Given the description of an element on the screen output the (x, y) to click on. 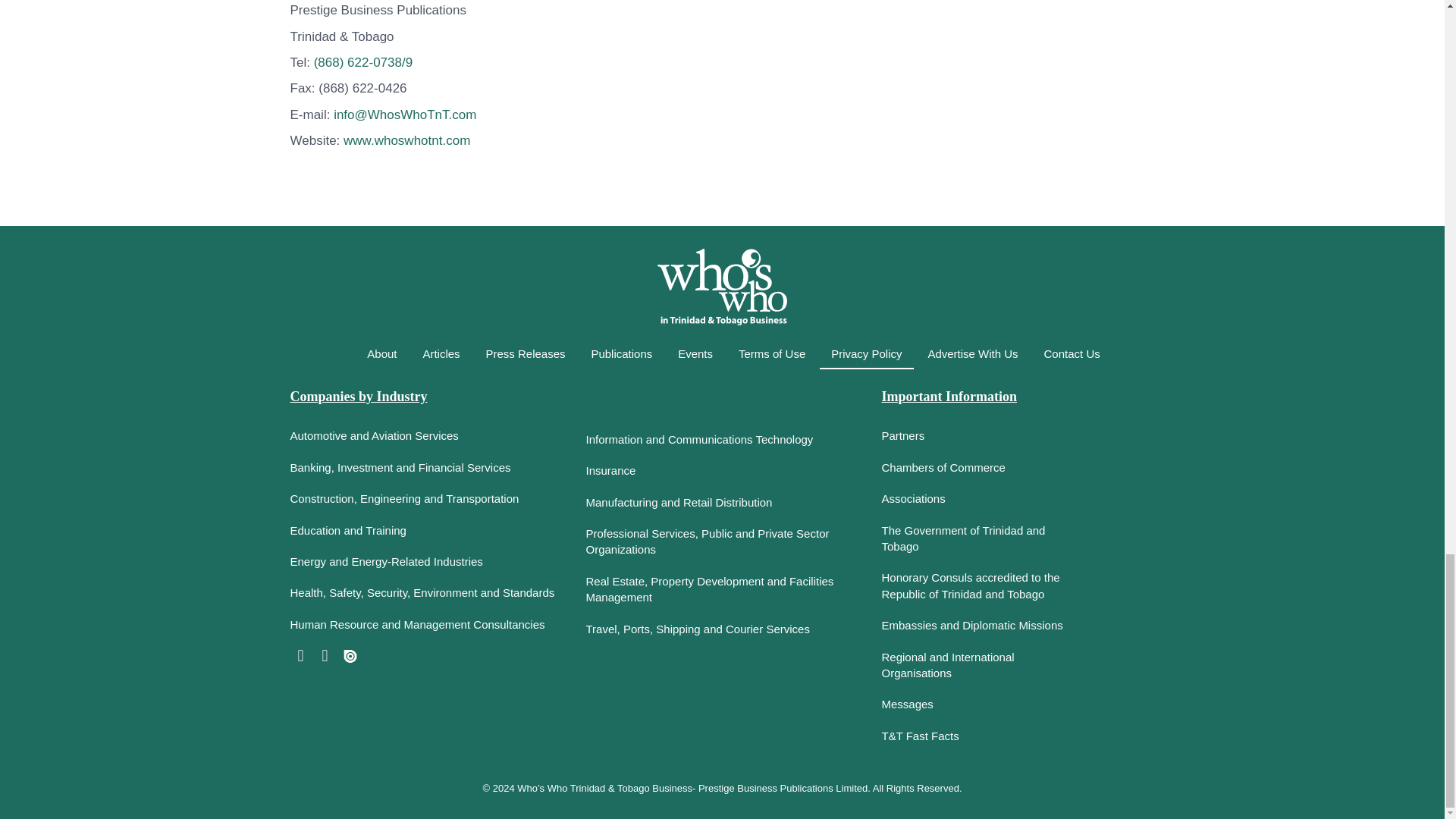
www.whoswhotnt.com (406, 140)
Advertise With Us (972, 353)
Construction, Engineering and Transportation (425, 500)
Human Resource and Management Consultancies (425, 626)
Automotive and Aviation Services (425, 437)
Health, Safety, Security, Environment and Standards (425, 594)
Contact Us (1072, 353)
Events (694, 353)
Terms of Use (771, 353)
Privacy Policy (865, 354)
